Given the description of an element on the screen output the (x, y) to click on. 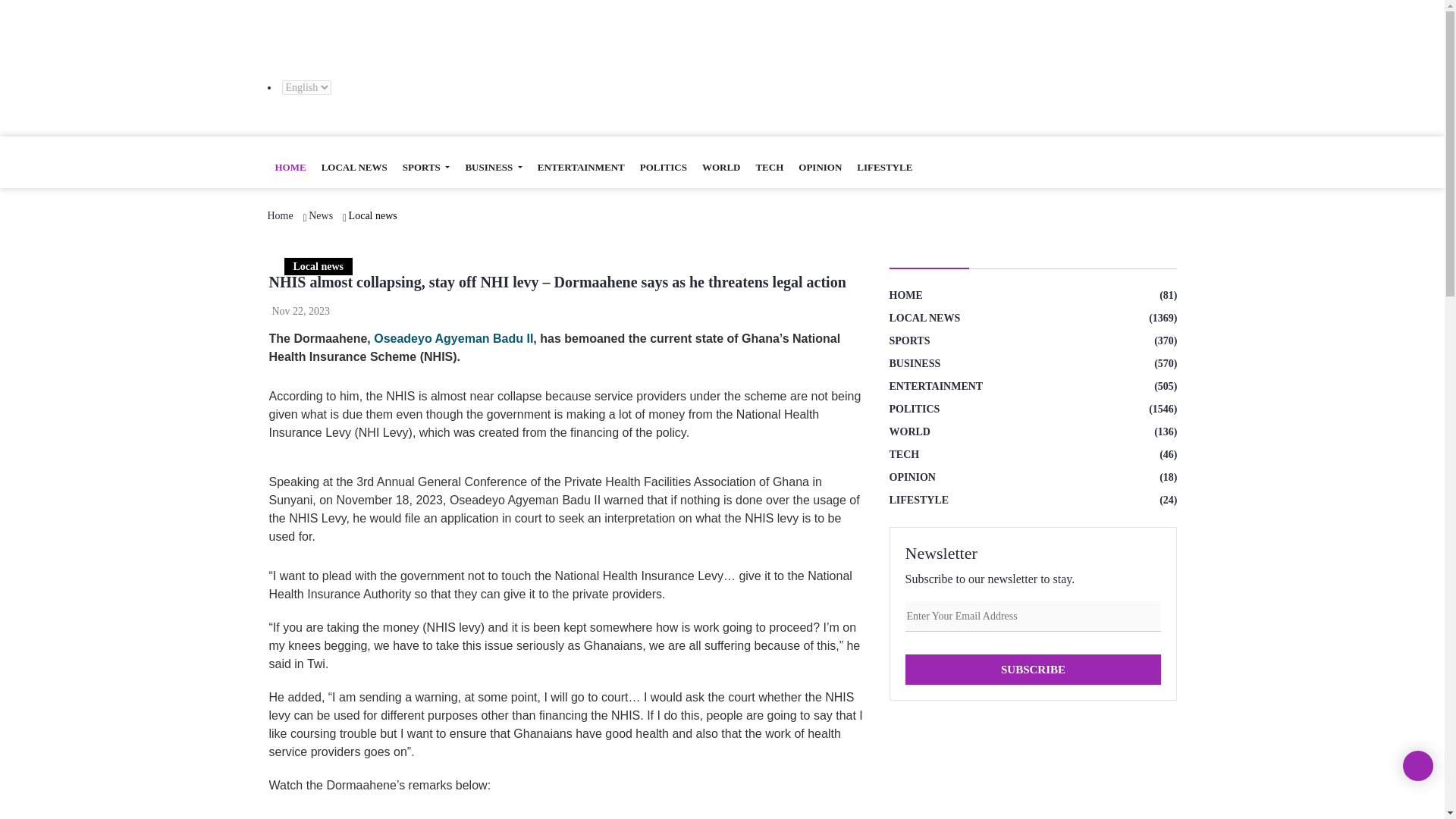
LOCAL NEWS (354, 167)
Twitter Tweet (476, 814)
BUSINESS (493, 167)
SPORTS (426, 167)
HOME (289, 167)
